Given the description of an element on the screen output the (x, y) to click on. 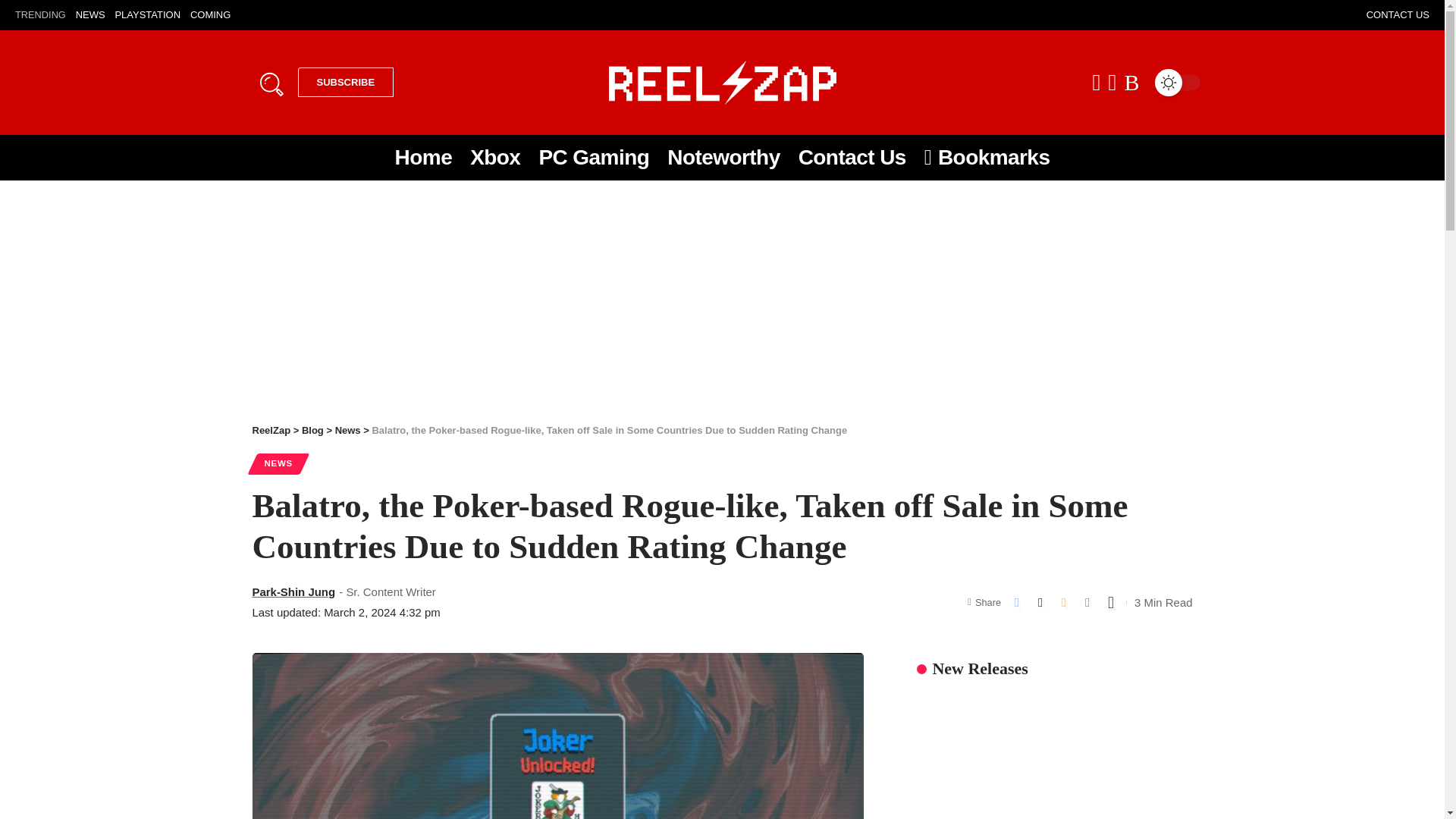
Bookmarks (987, 157)
COMING (210, 14)
NEWS (89, 14)
Contact Us (852, 157)
Go to ReelZap. (270, 430)
Home (423, 157)
SUBSCRIBE (345, 82)
Xbox (495, 157)
CONTACT US (1398, 14)
Go to Blog. (312, 430)
PC Gaming (593, 157)
Go to the News Category archives. (347, 430)
PLAYSTATION (147, 14)
Noteworthy (723, 157)
